Given the description of an element on the screen output the (x, y) to click on. 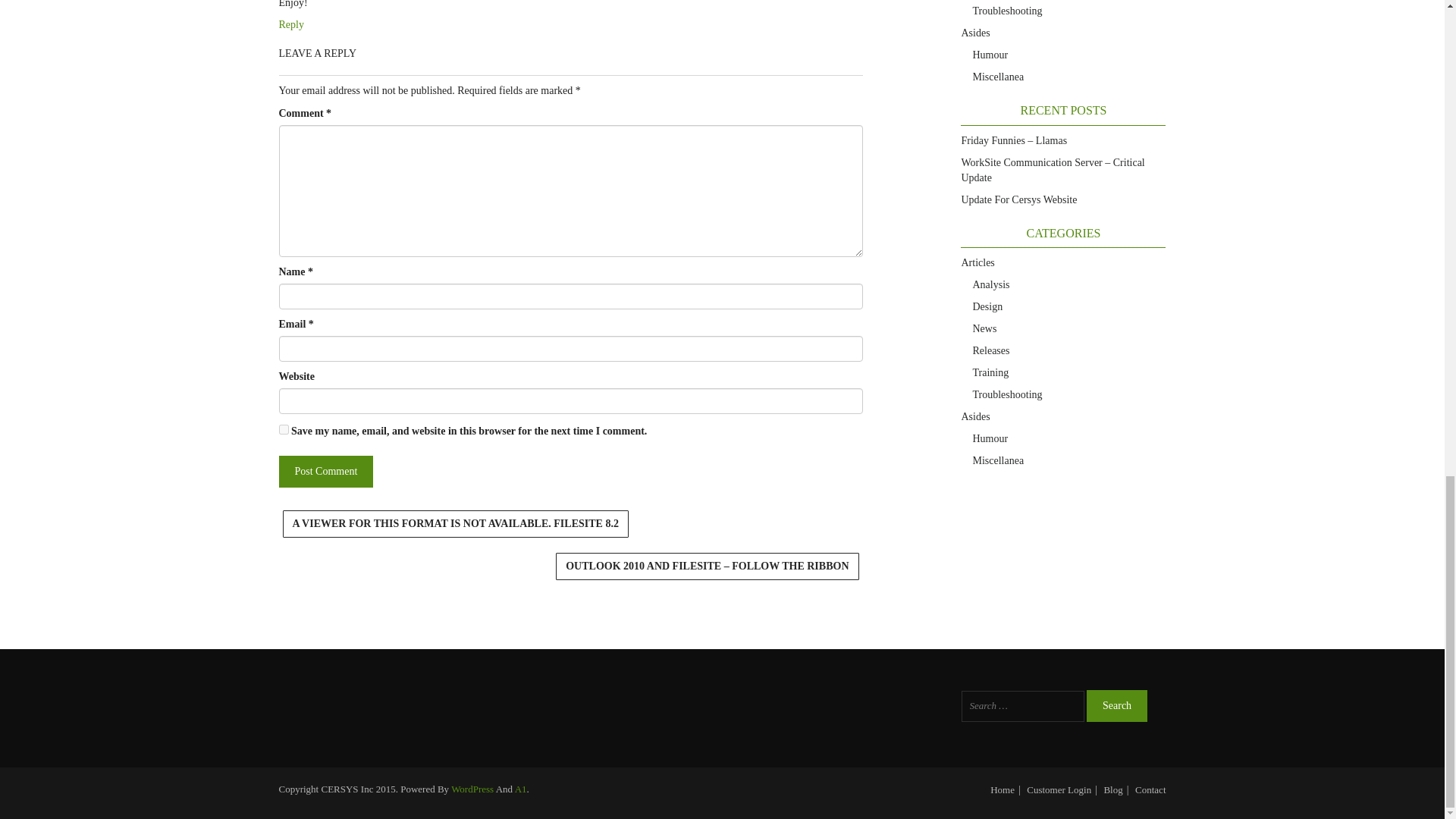
A VIEWER FOR THIS FORMAT IS NOT AVAILABLE. FILESITE 8.2 (454, 523)
yes (283, 429)
Search (1116, 705)
Post Comment (326, 471)
Search (1116, 705)
Post Comment (326, 471)
Reply (291, 24)
